Given the description of an element on the screen output the (x, y) to click on. 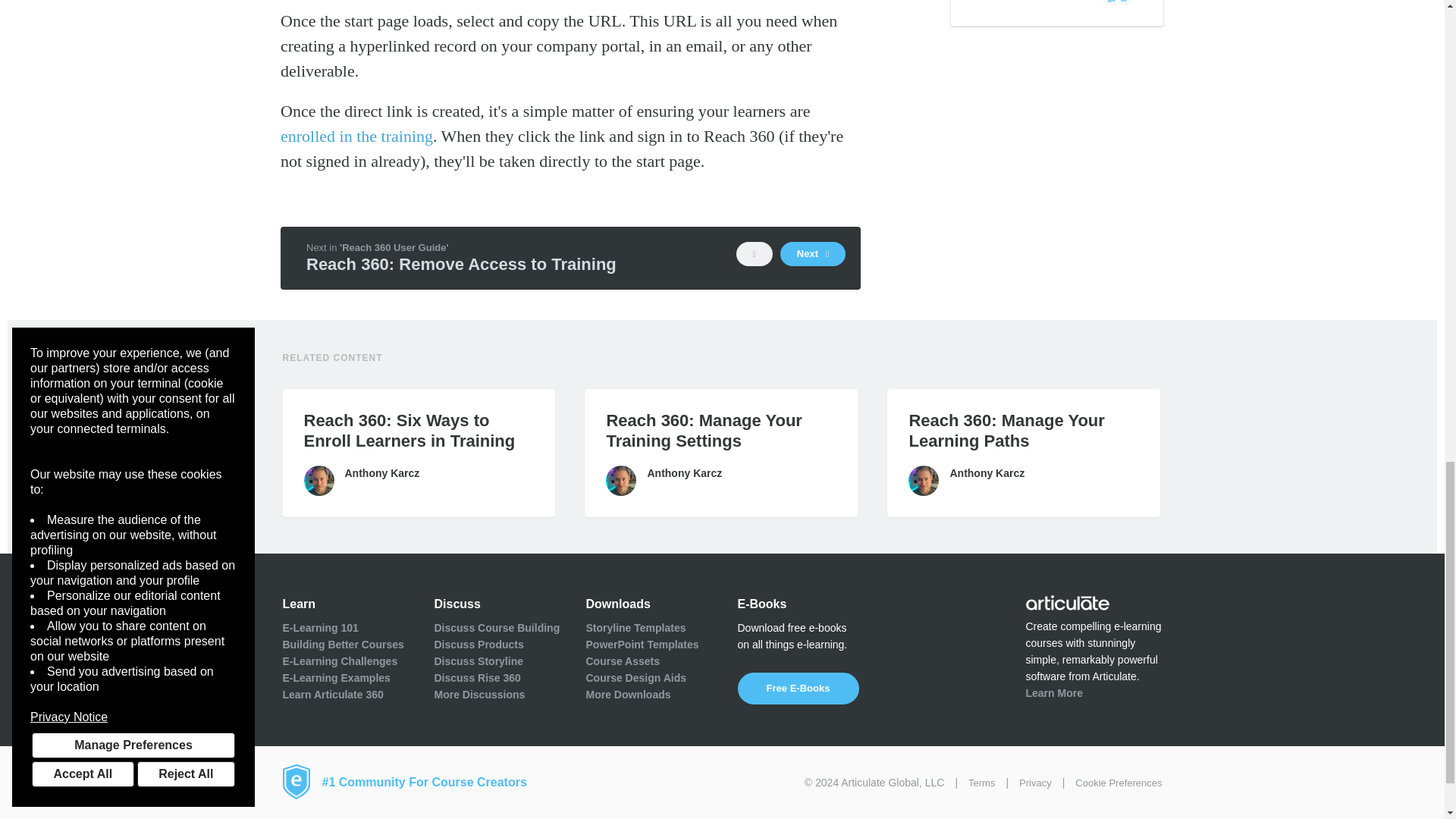
Anthony Karcz (317, 481)
Anthony Karcz (923, 481)
Reach 360: Manage Your Training Settings (720, 430)
Reach 360: Manage Your Learning Paths (1023, 430)
Reach 360: Six Ways to Enroll Learners in Training (418, 430)
Anthony Karcz (620, 481)
